Given the description of an element on the screen output the (x, y) to click on. 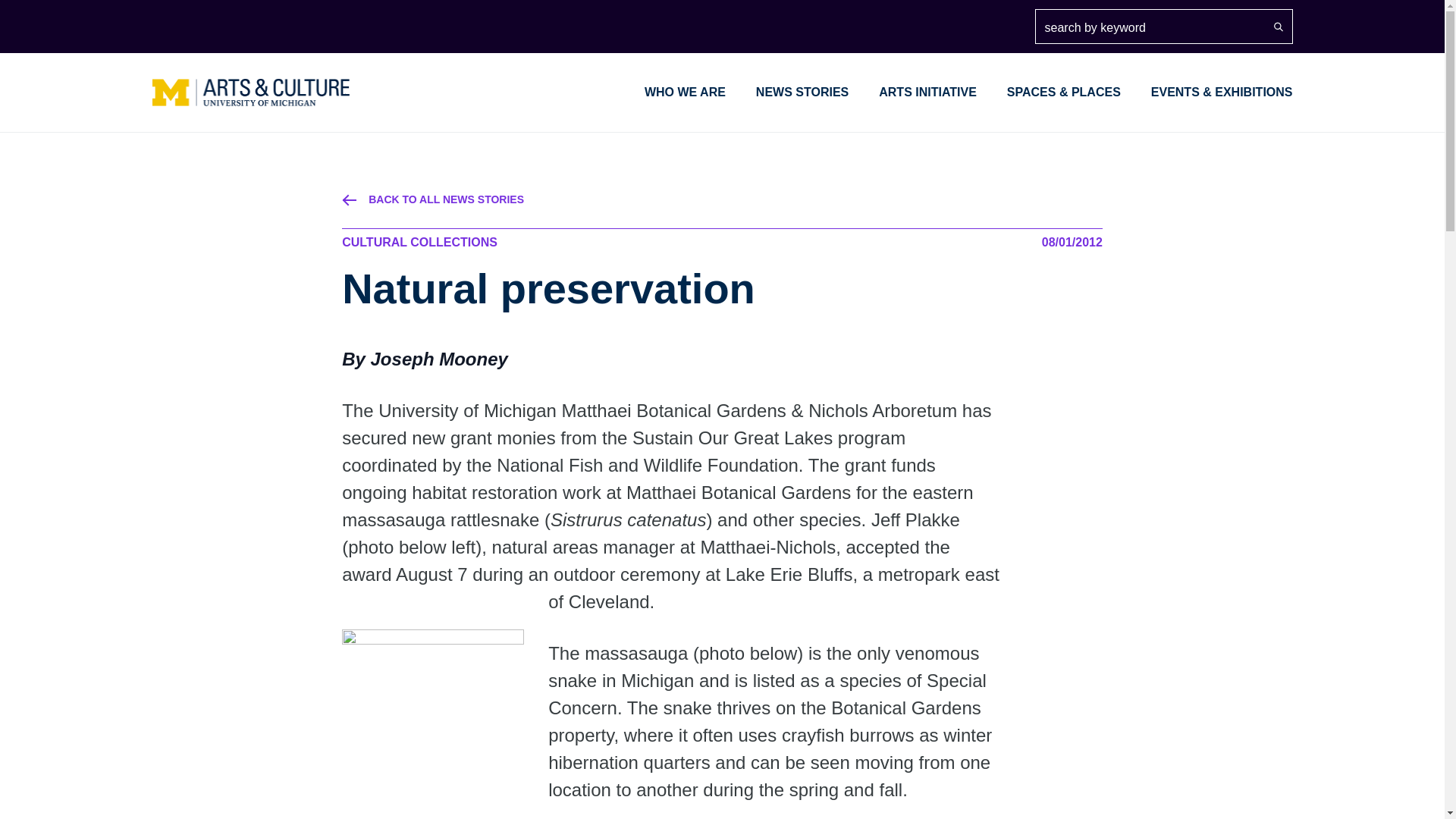
BACK TO ALL NEWS STORIES (722, 200)
ARTS INITIATIVE (927, 91)
0-1 (433, 685)
WHO WE ARE (685, 91)
NEWS STORIES (801, 91)
